Given the description of an element on the screen output the (x, y) to click on. 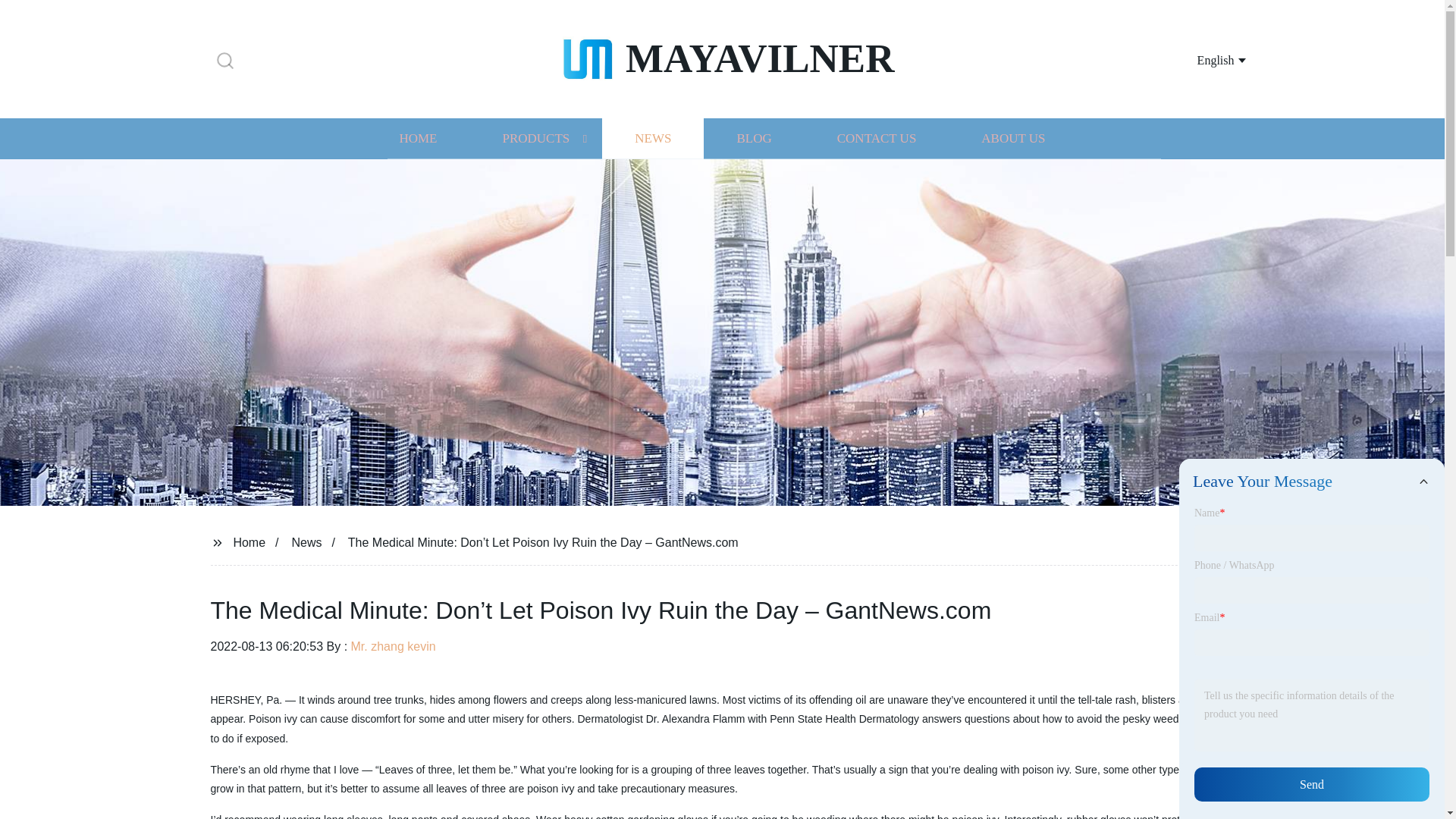
Home (248, 541)
English (1203, 59)
CONTACT US (877, 137)
News (306, 541)
BLOG (753, 137)
ABOUT US (1013, 137)
HOME (417, 137)
English (1203, 59)
Top (1404, 777)
NEWS (652, 137)
PRODUCTS (535, 137)
